Given the description of an element on the screen output the (x, y) to click on. 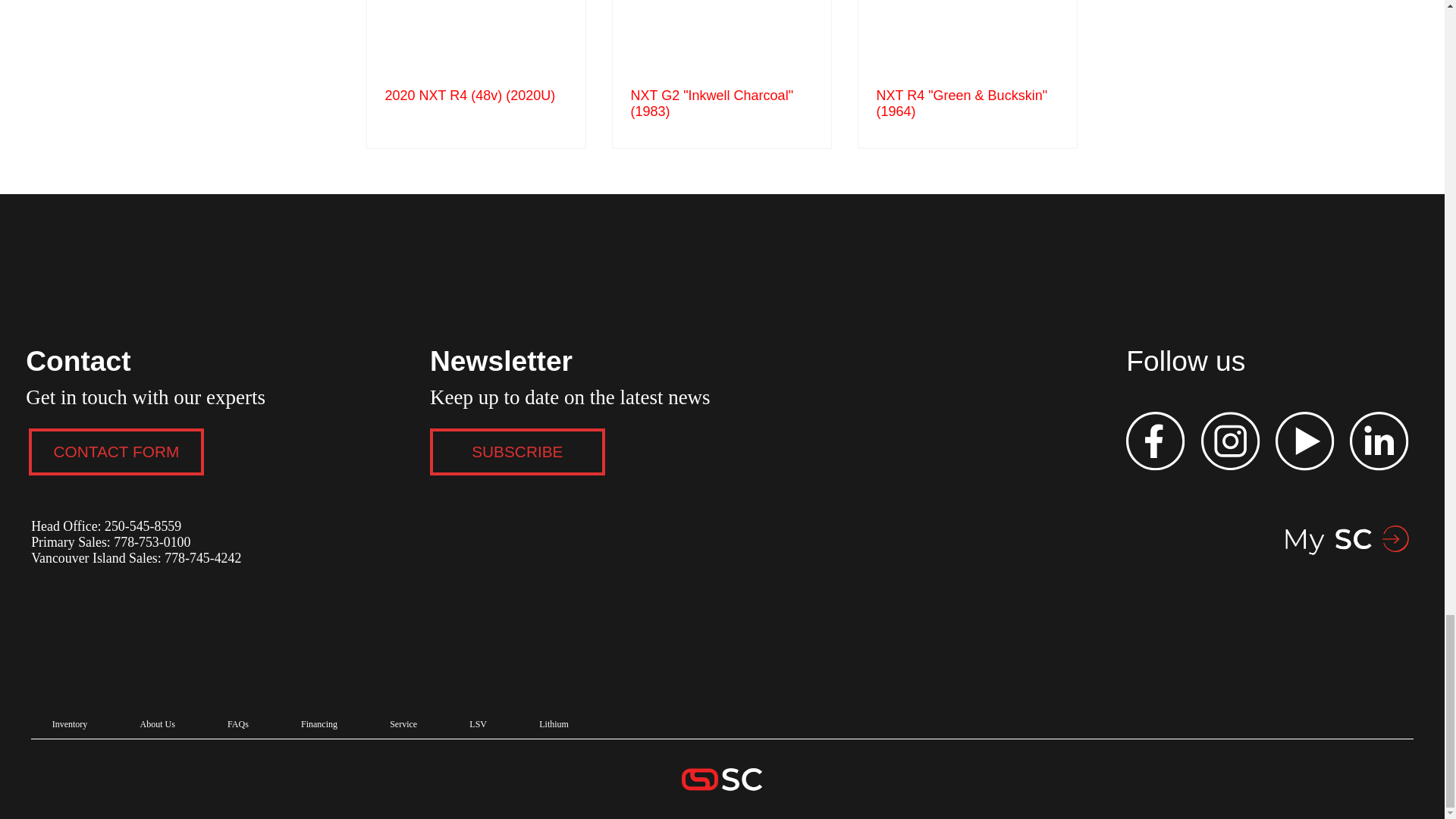
778-753-0100 (150, 541)
LSV (478, 724)
SUBSCRIBE (517, 451)
Inventory (69, 724)
250-545-8559 (142, 525)
Service (403, 724)
CONTACT FORM (116, 451)
Financing (318, 724)
FAQs (236, 724)
About Us (157, 724)
778-745-4242 (202, 557)
Lithium (554, 724)
